Given the description of an element on the screen output the (x, y) to click on. 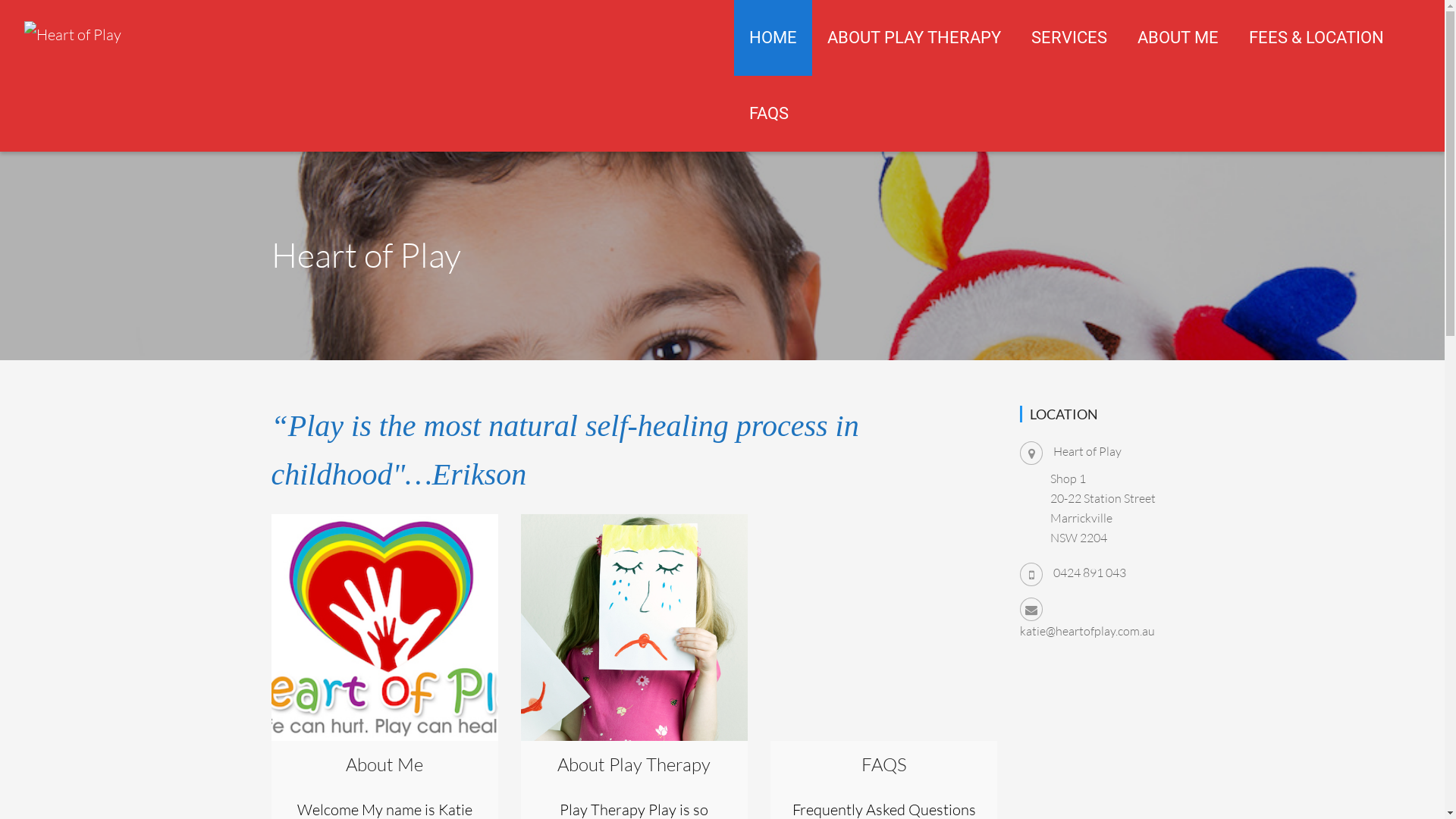
FAQS Element type: text (768, 113)
katie@heartofplay.com.au Element type: text (1086, 630)
About Me Element type: hover (384, 627)
ABOUT PLAY THERAPY Element type: text (913, 37)
ABOUT ME Element type: text (1177, 37)
SERVICES Element type: text (1069, 37)
FEES & LOCATION Element type: text (1315, 37)
0424 891 043 Element type: text (1089, 572)
FAQS Element type: hover (883, 627)
HOME Element type: text (773, 37)
About Play Therapy Element type: hover (633, 627)
